Given the description of an element on the screen output the (x, y) to click on. 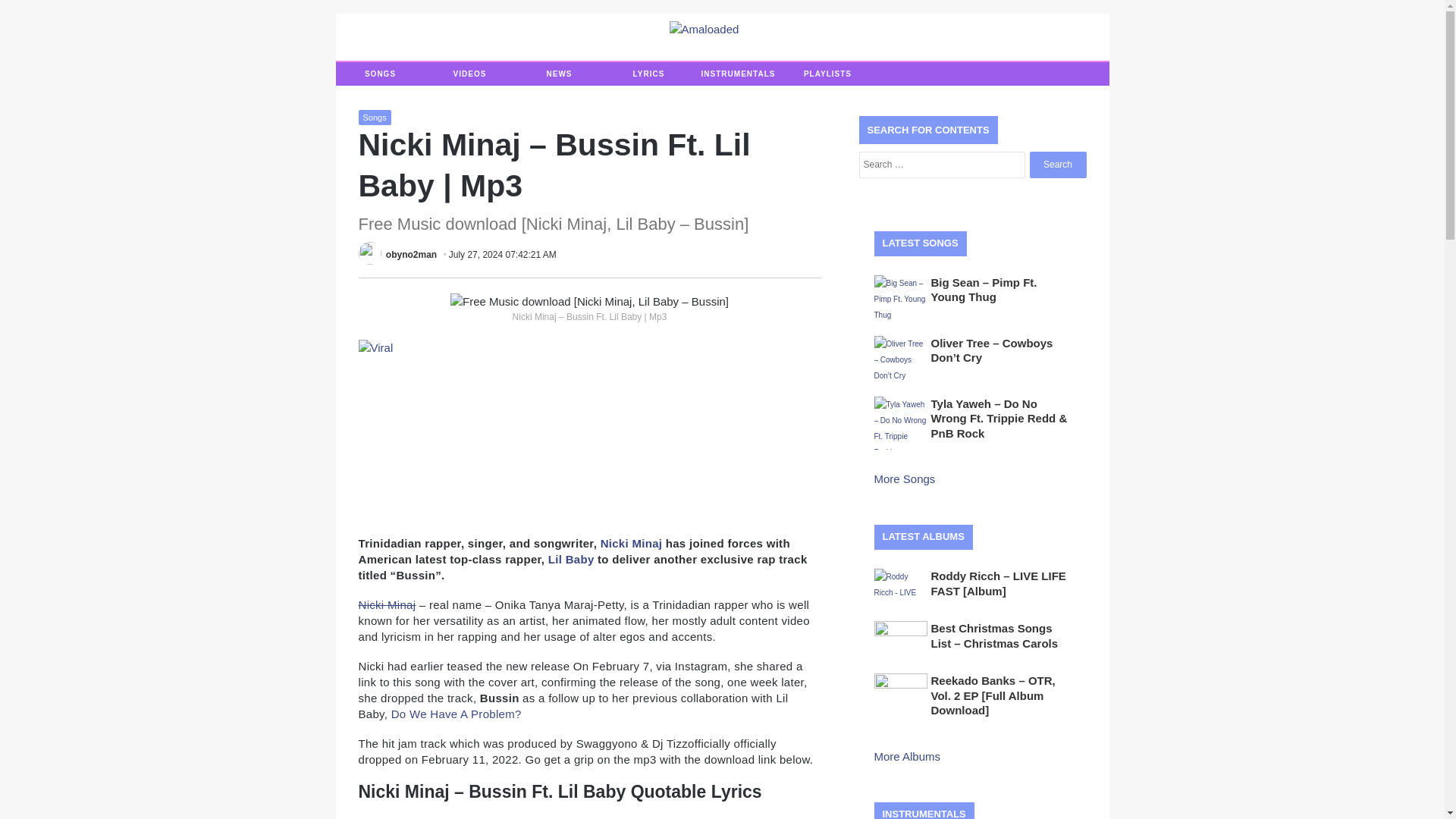
Search (1057, 164)
Nicki Minaj (386, 604)
Lil Baby (571, 558)
VIDEOS (469, 73)
Search (1057, 164)
Nicki Minaj (630, 543)
SONGS (379, 73)
LYRICS (648, 73)
Search (1057, 164)
NEWS (558, 73)
INSTRUMENTALS (738, 73)
obyno2man (410, 254)
Songs (374, 117)
PLAYLISTS (827, 73)
Do We Have A Problem? (456, 713)
